Given the description of an element on the screen output the (x, y) to click on. 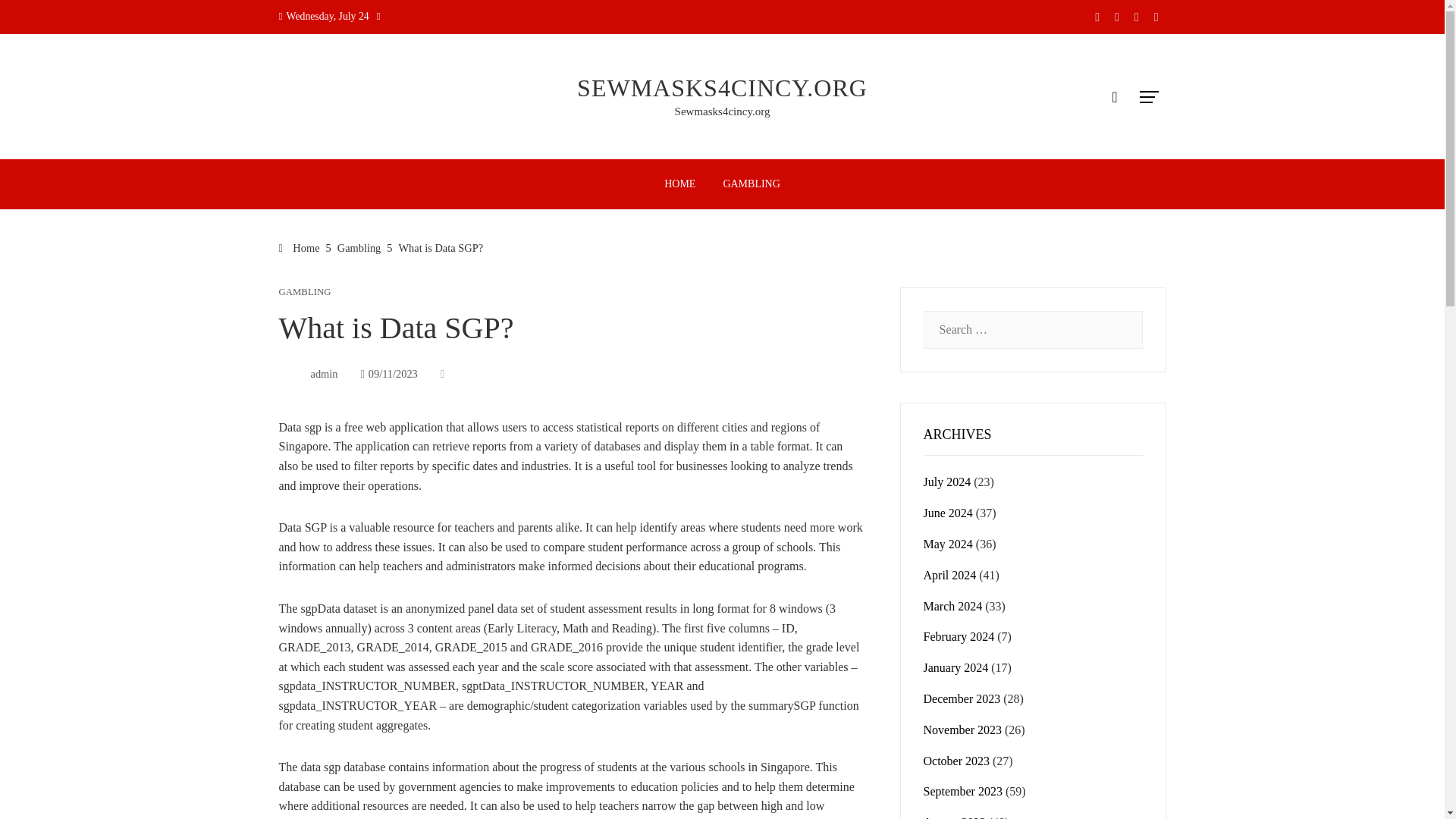
April 2024 (949, 574)
March 2024 (952, 605)
June 2024 (947, 512)
February 2024 (958, 635)
December 2023 (962, 698)
GAMBLING (305, 292)
August 2023 (954, 817)
Home (299, 247)
July 2024 (947, 481)
November 2023 (963, 729)
September 2023 (963, 790)
October 2023 (956, 760)
Sewmasks4cincy.org (722, 111)
Search (35, 18)
Gambling (359, 247)
